Given the description of an element on the screen output the (x, y) to click on. 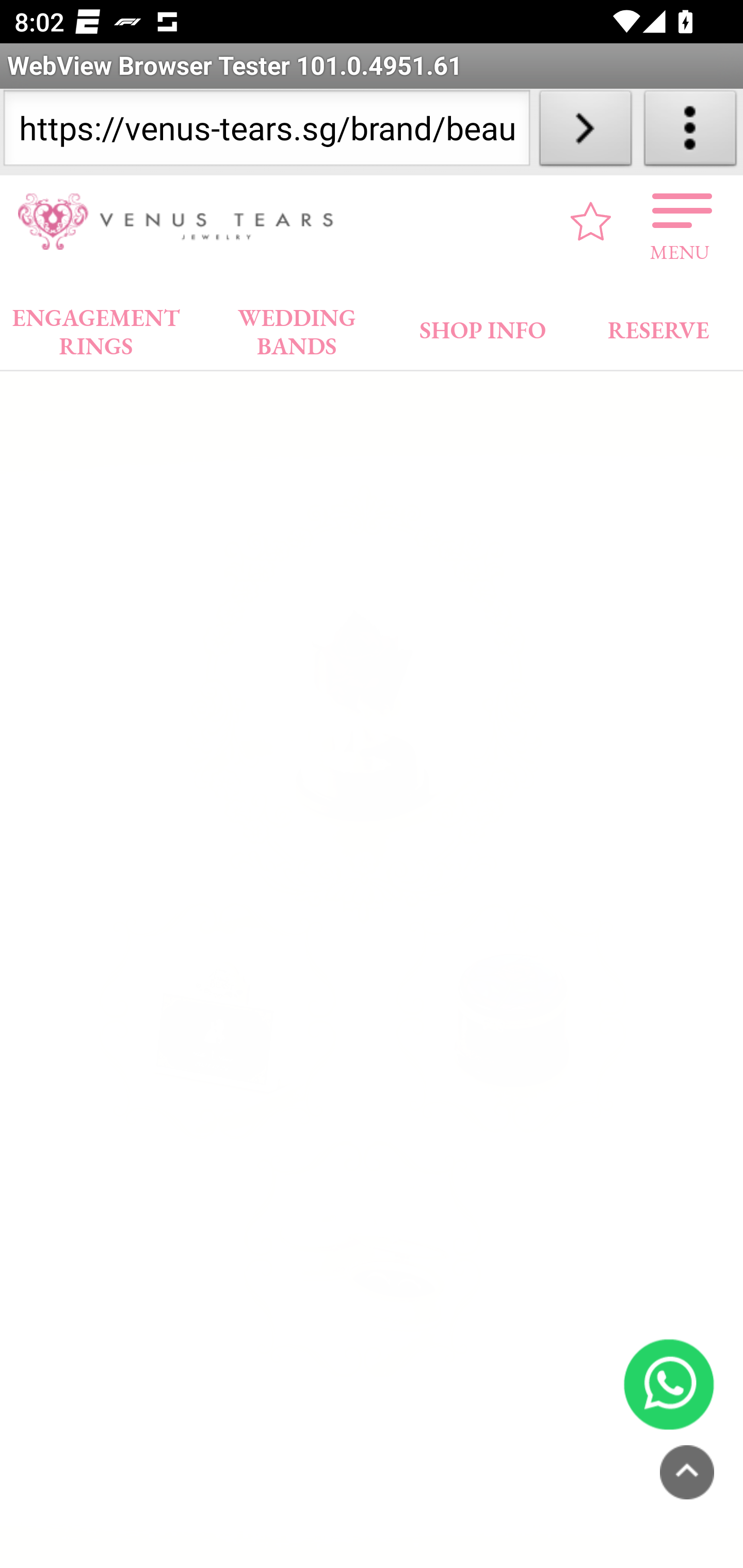
Load URL (585, 132)
About WebView (690, 132)
favourite (591, 220)
MENU (680, 220)
VENUS TEARS (181, 221)
ENGAGEMENT RINGS ENGAGEMENT RINGS (96, 326)
WEDDING BANDS WEDDING BANDS (296, 326)
SHOP INFO (482, 325)
RESERVE (657, 325)
6585184875 (668, 1383)
PAGETOP (686, 1472)
